Given the description of an element on the screen output the (x, y) to click on. 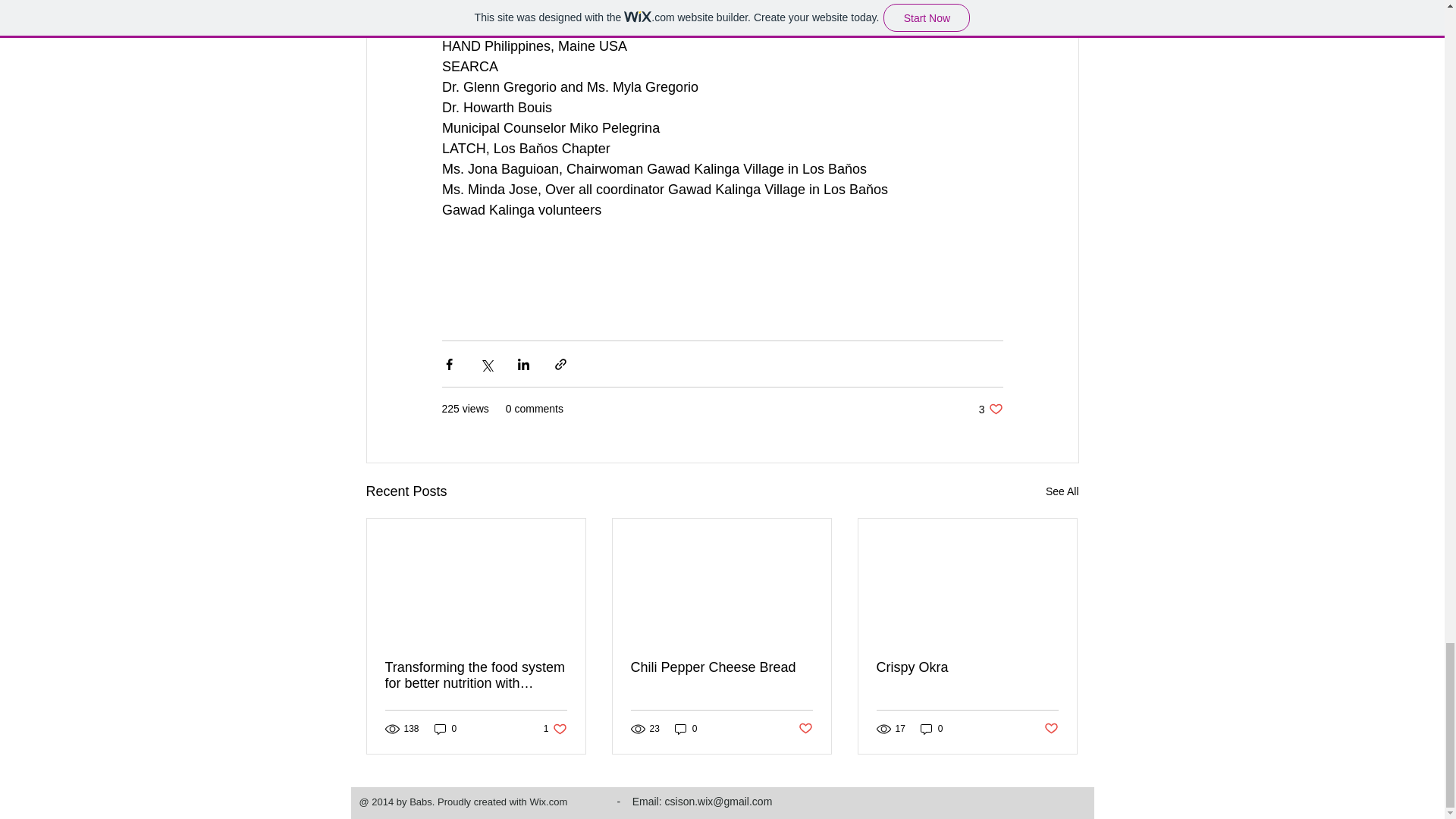
Crispy Okra (555, 728)
Chili Pepper Cheese Bread (967, 667)
0 (721, 667)
See All (990, 409)
0 (445, 728)
Post not marked as liked (1061, 491)
Post not marked as liked (931, 728)
